Given the description of an element on the screen output the (x, y) to click on. 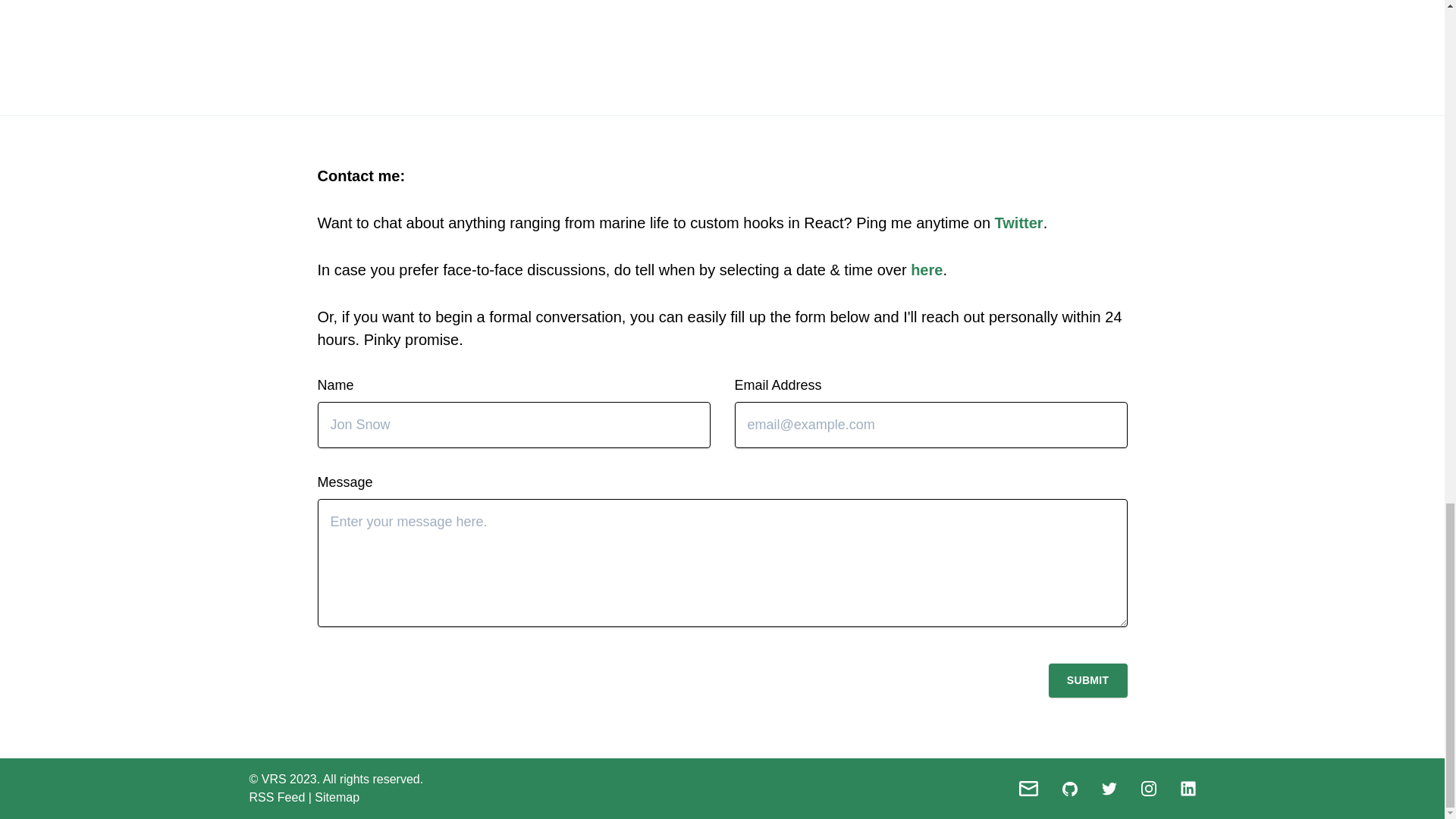
Sitemap (336, 797)
RSS Feed (276, 797)
Submit (1087, 680)
Submit (1087, 680)
Twitter (1018, 222)
here (926, 269)
